Given the description of an element on the screen output the (x, y) to click on. 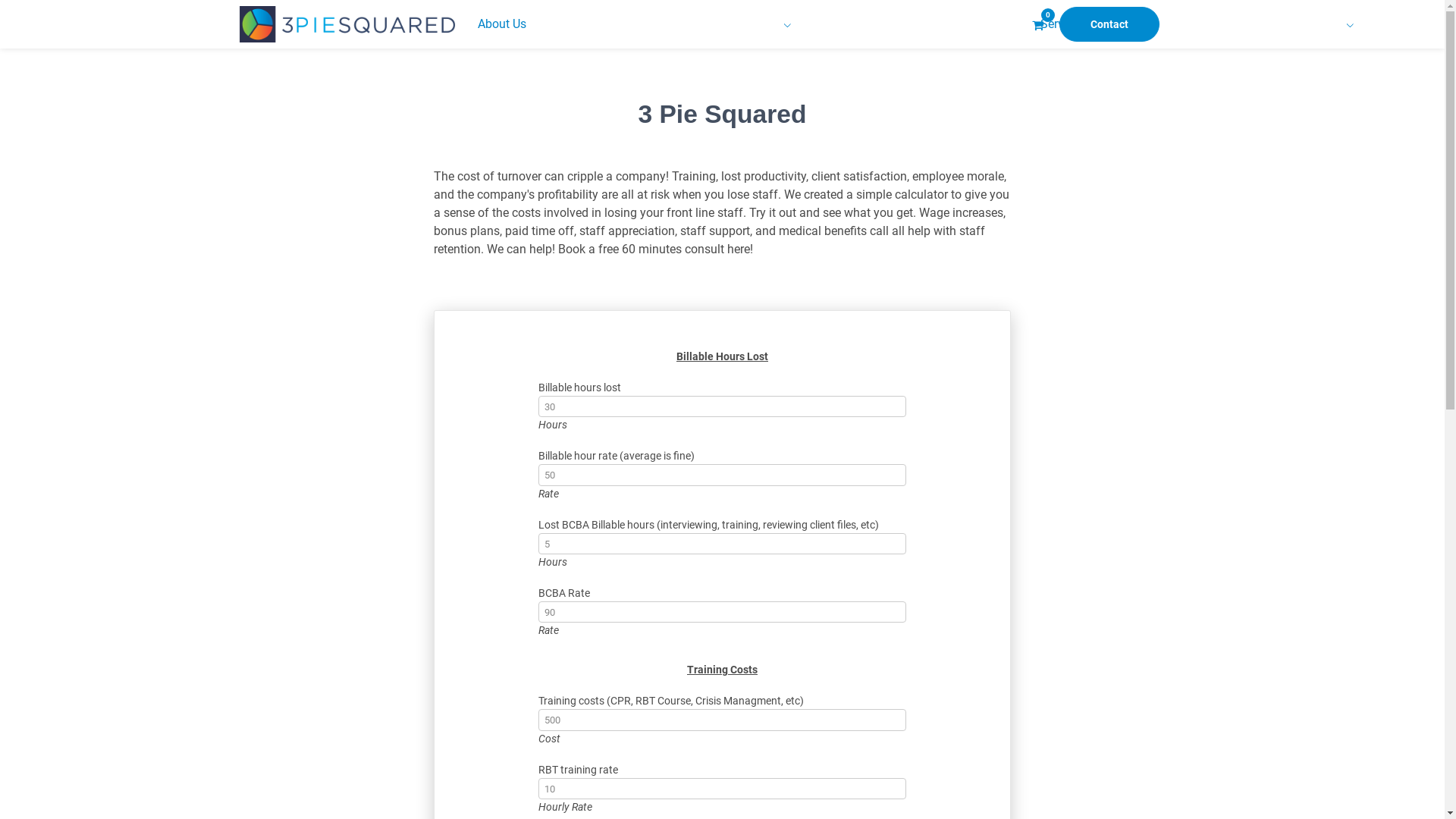
Contact Element type: text (1108, 23)
About Us Element type: text (751, 24)
0 Element type: text (1037, 24)
